Given the description of an element on the screen output the (x, y) to click on. 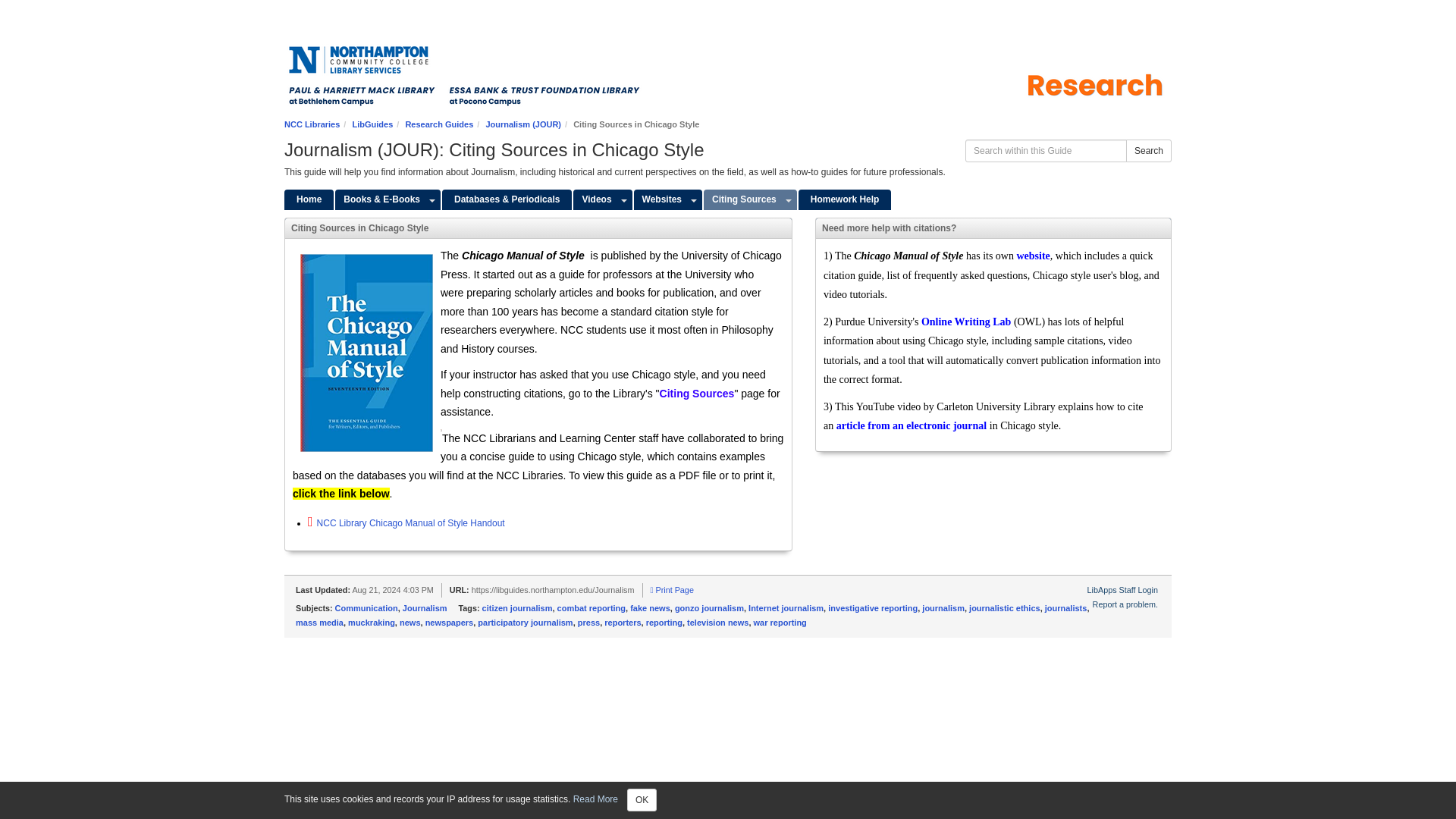
Websites (659, 199)
Research Guides (438, 123)
Homework Help (844, 199)
Print Page (672, 589)
NCC Library Chicago Manual of Style Handout (406, 522)
LibGuides (372, 123)
Videos (594, 199)
Report a problem. (1125, 604)
Search (1148, 150)
Online Writing Lab (966, 321)
